Given the description of an element on the screen output the (x, y) to click on. 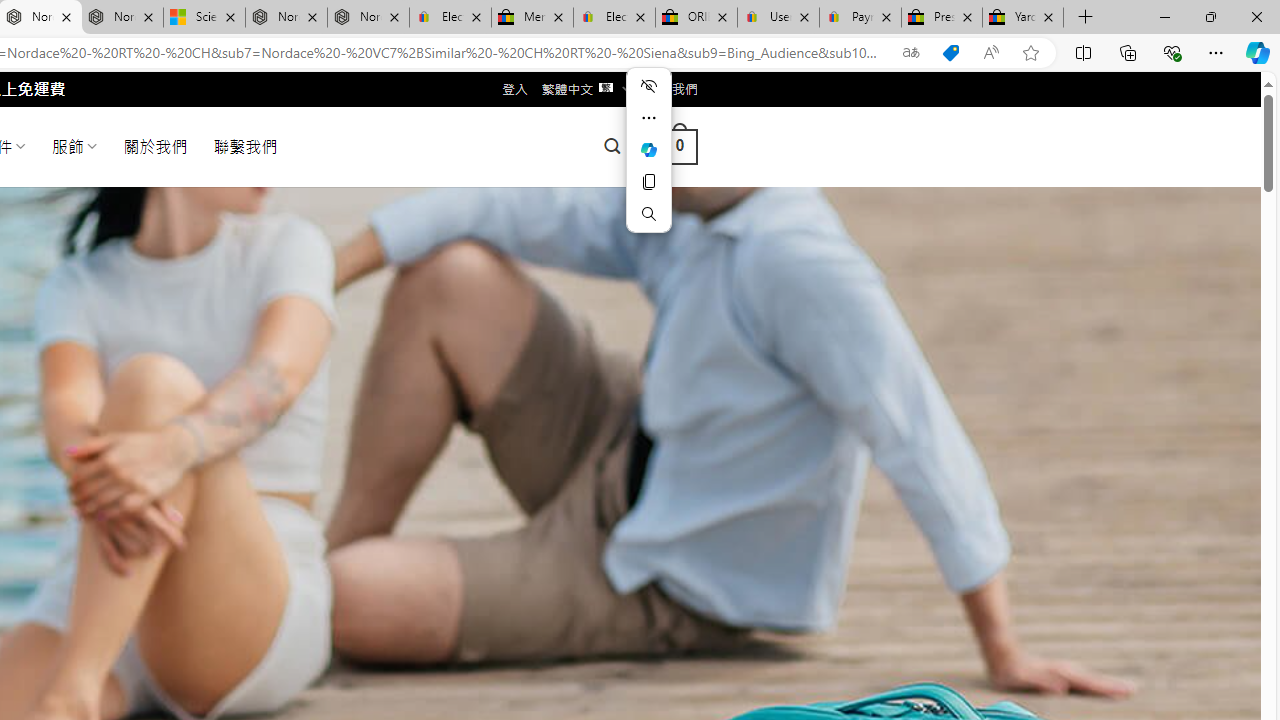
Mini menu on text selection (648, 149)
  0   (679, 146)
Ask Copilot (648, 149)
Hide menu (648, 85)
